Given the description of an element on the screen output the (x, y) to click on. 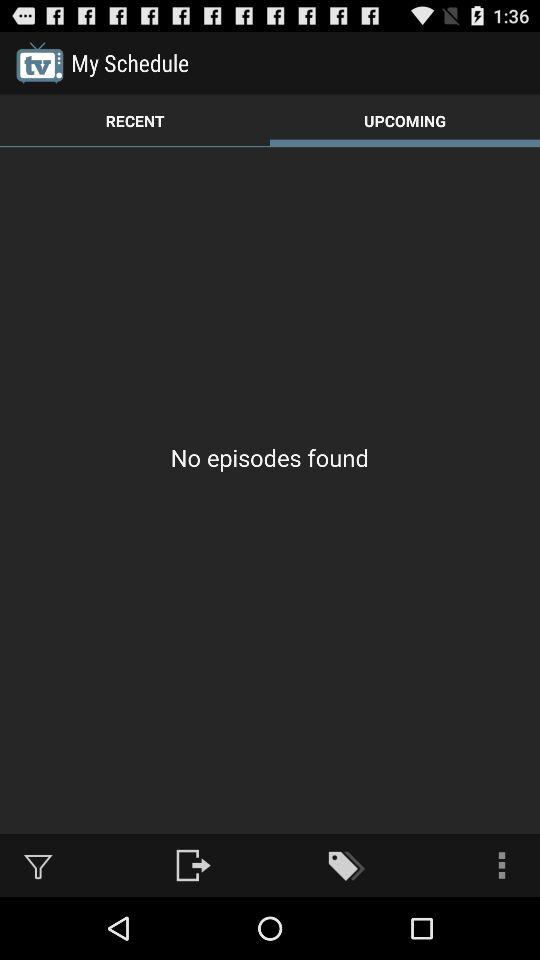
tap the icon at the bottom right corner (501, 864)
